Given the description of an element on the screen output the (x, y) to click on. 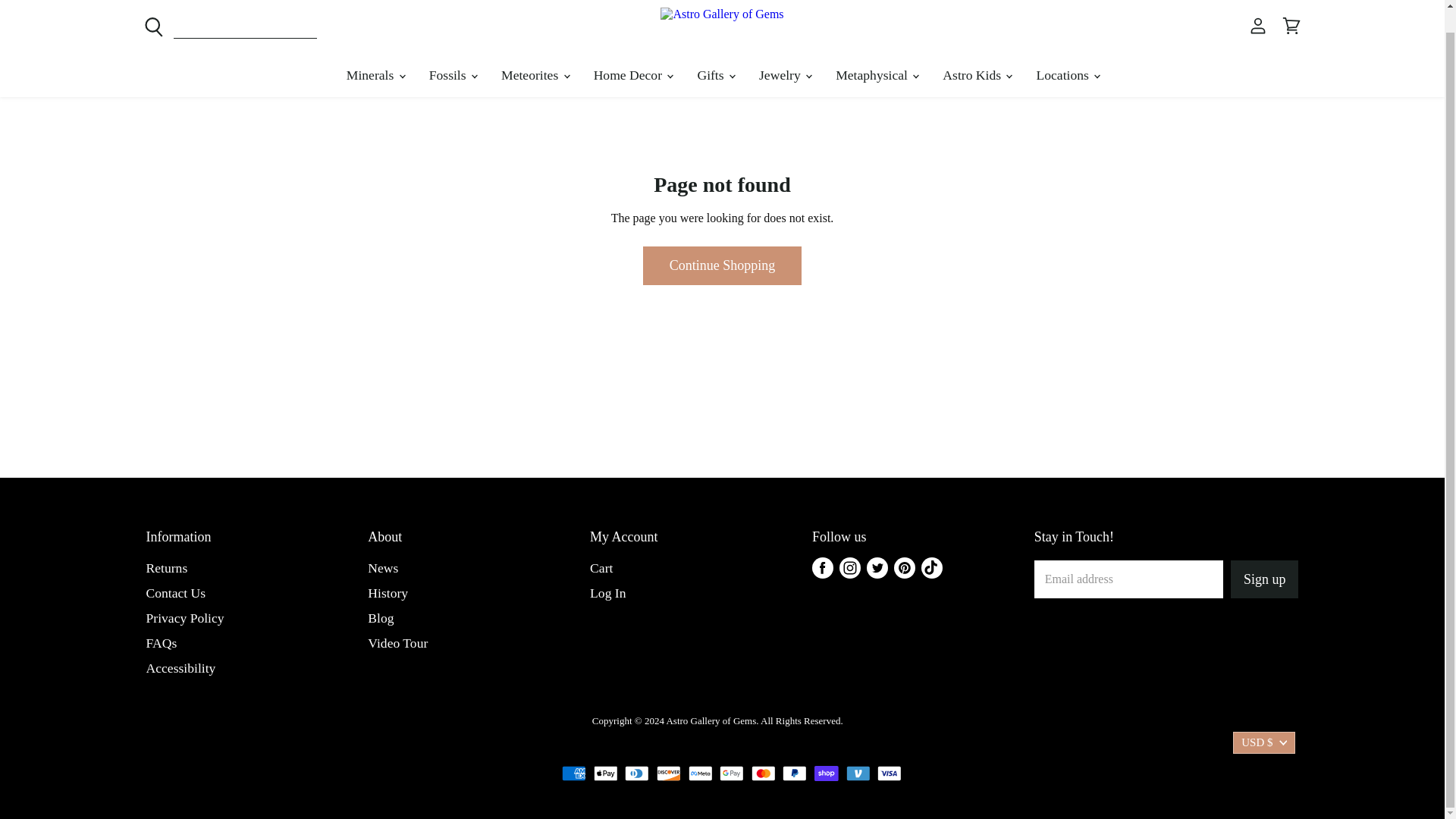
Fossils (451, 74)
View cart (1290, 26)
Meteorites (534, 74)
Minerals (374, 74)
View account (1257, 26)
Instagram (849, 567)
Twitter (877, 567)
Tiktok (931, 567)
Facebook (822, 567)
Home Decor (632, 74)
Pinterest (904, 567)
